Given the description of an element on the screen output the (x, y) to click on. 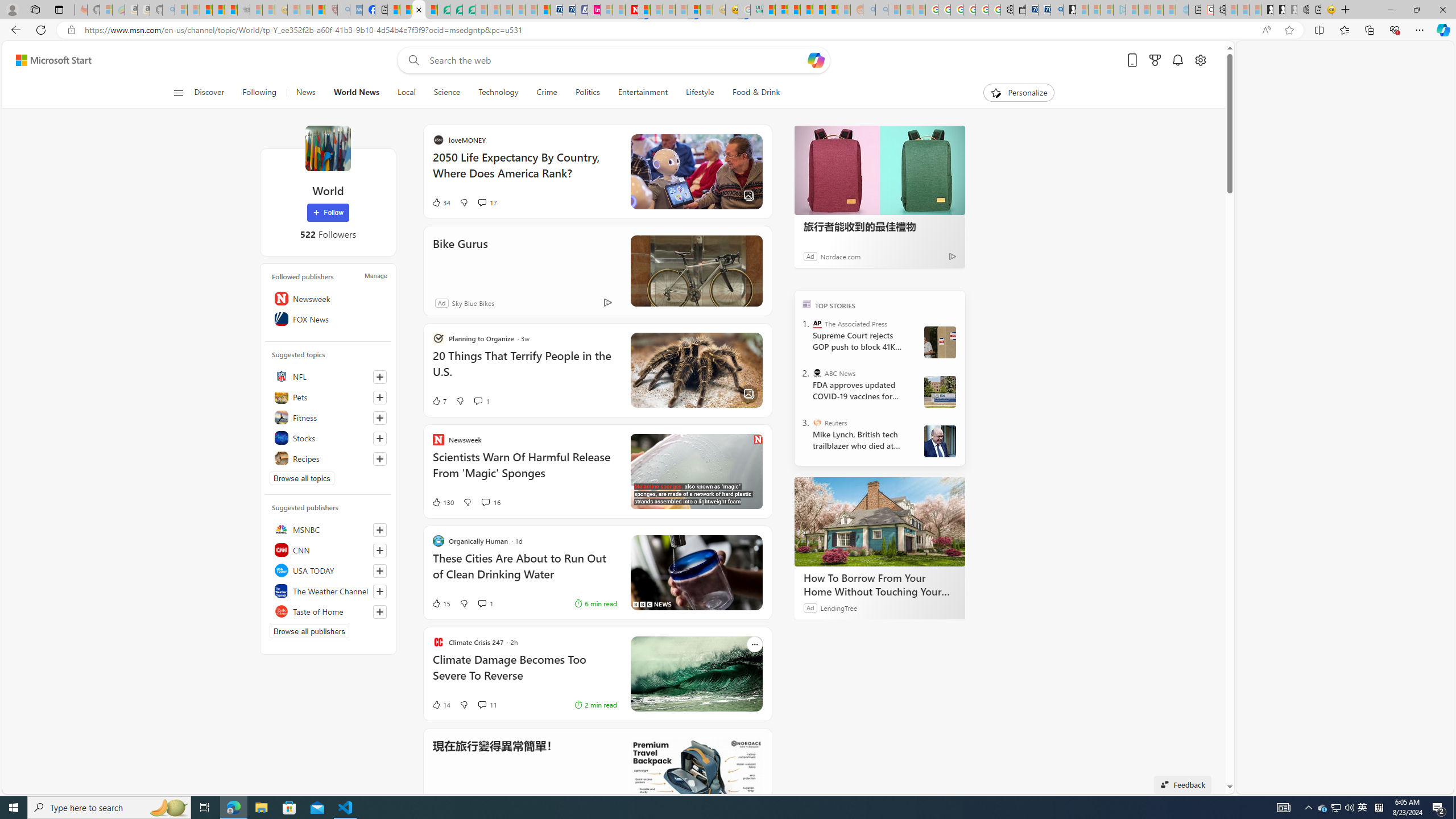
Local - MSN (318, 9)
Follow this source (379, 611)
34 Like (549, 202)
